Given the description of an element on the screen output the (x, y) to click on. 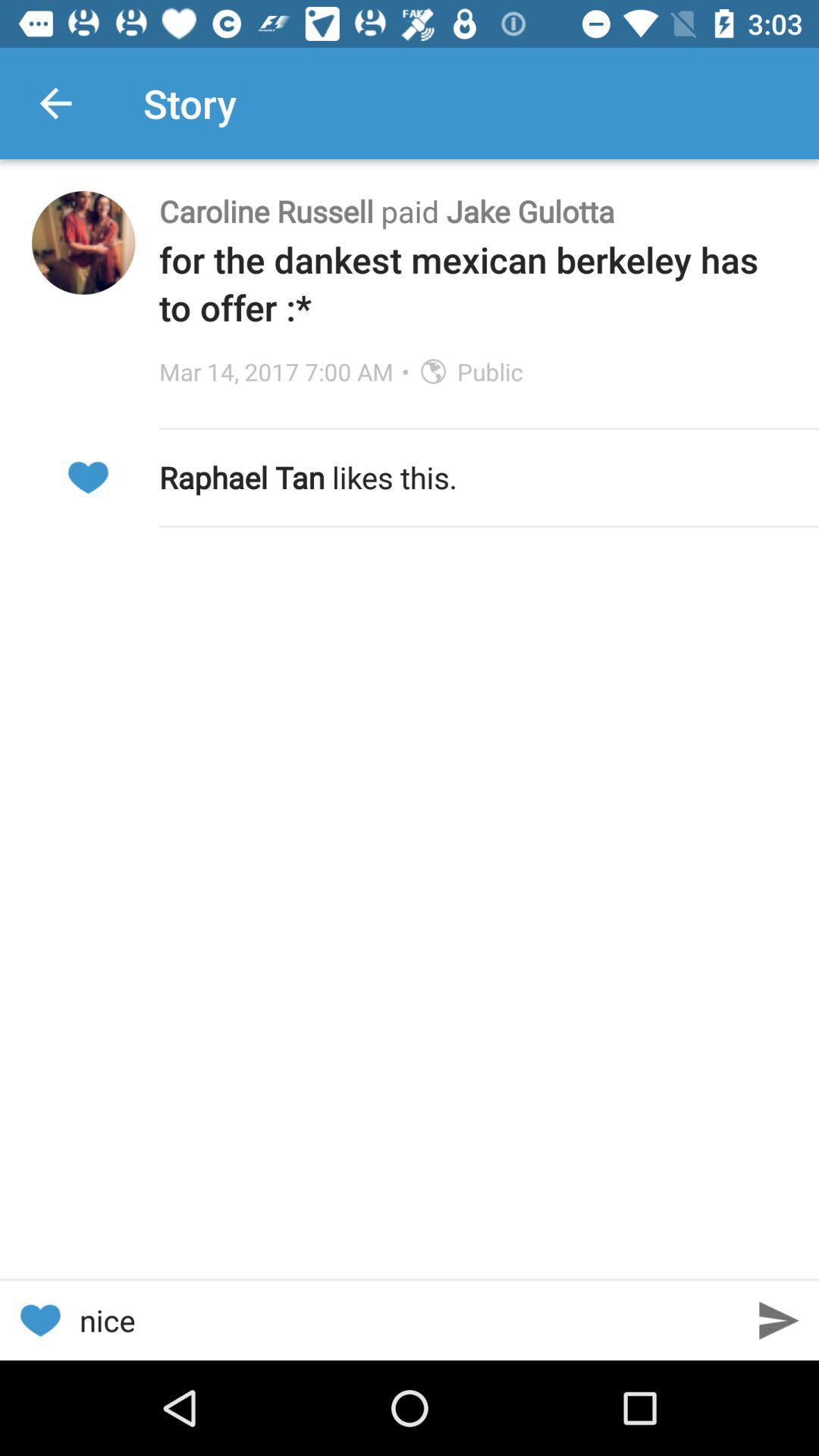
open profile photo (83, 242)
